Given the description of an element on the screen output the (x, y) to click on. 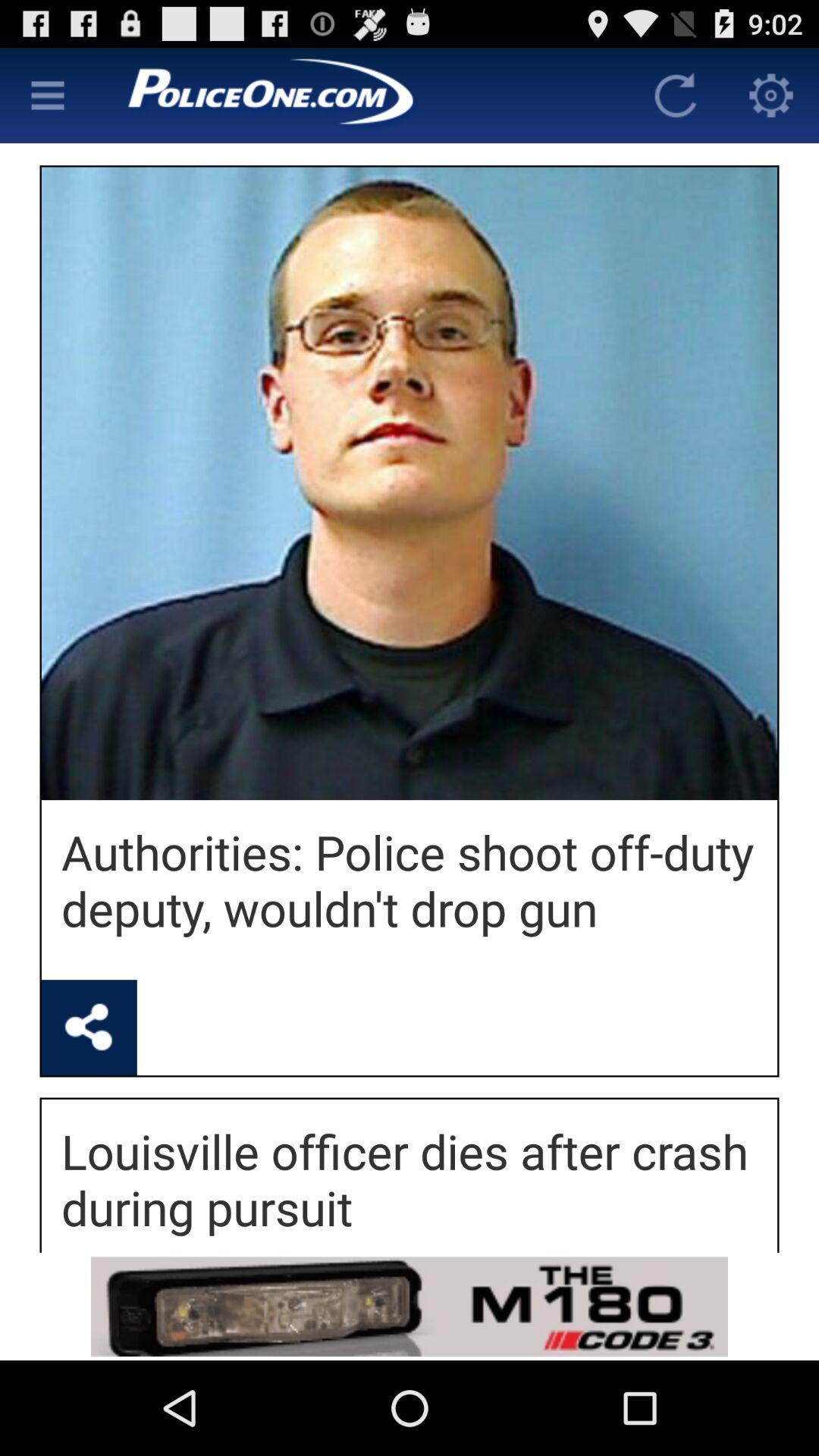
go to settings (771, 95)
